Given the description of an element on the screen output the (x, y) to click on. 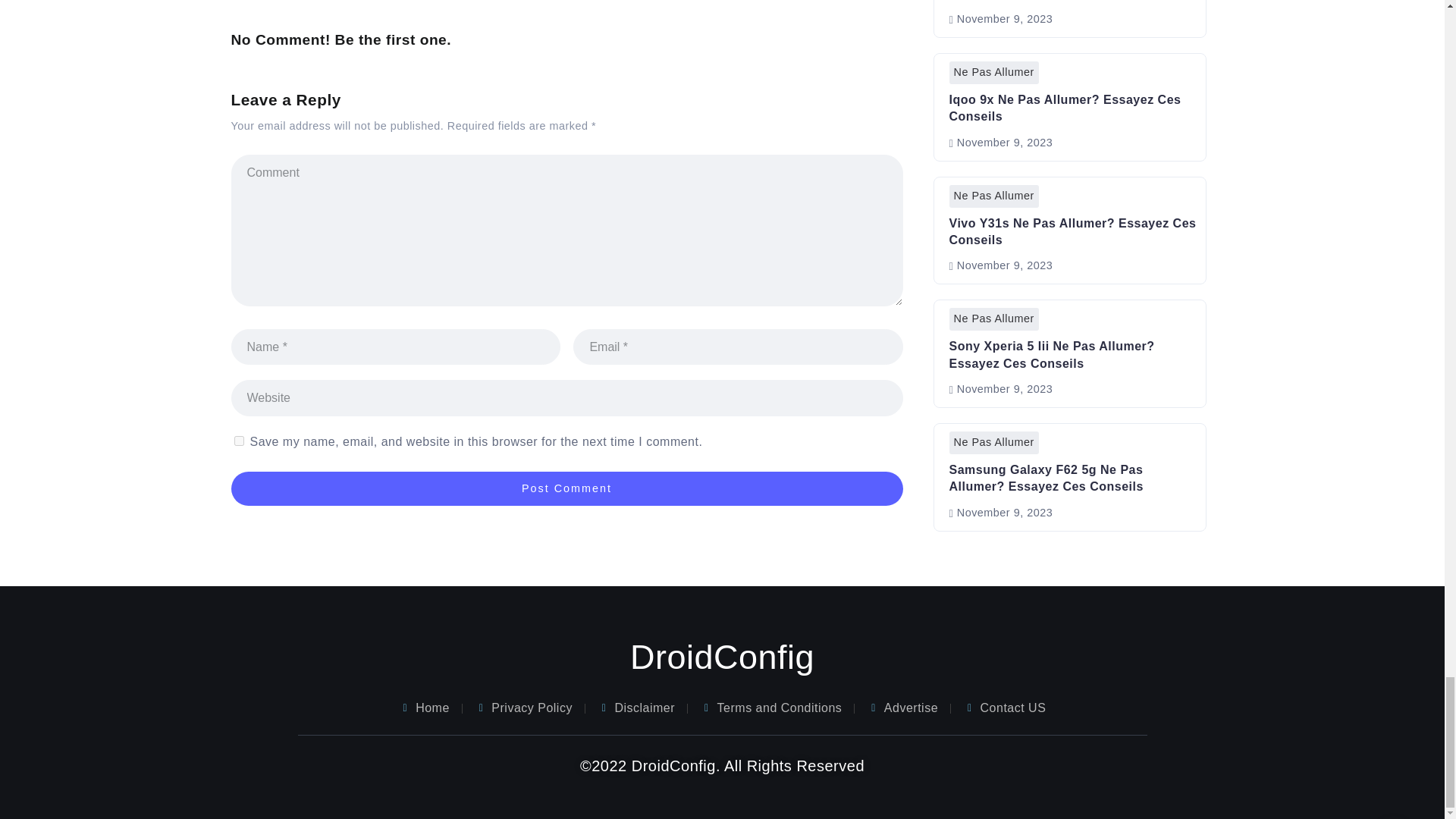
Post Comment (566, 488)
Post Comment (566, 488)
yes (237, 440)
